Given the description of an element on the screen output the (x, y) to click on. 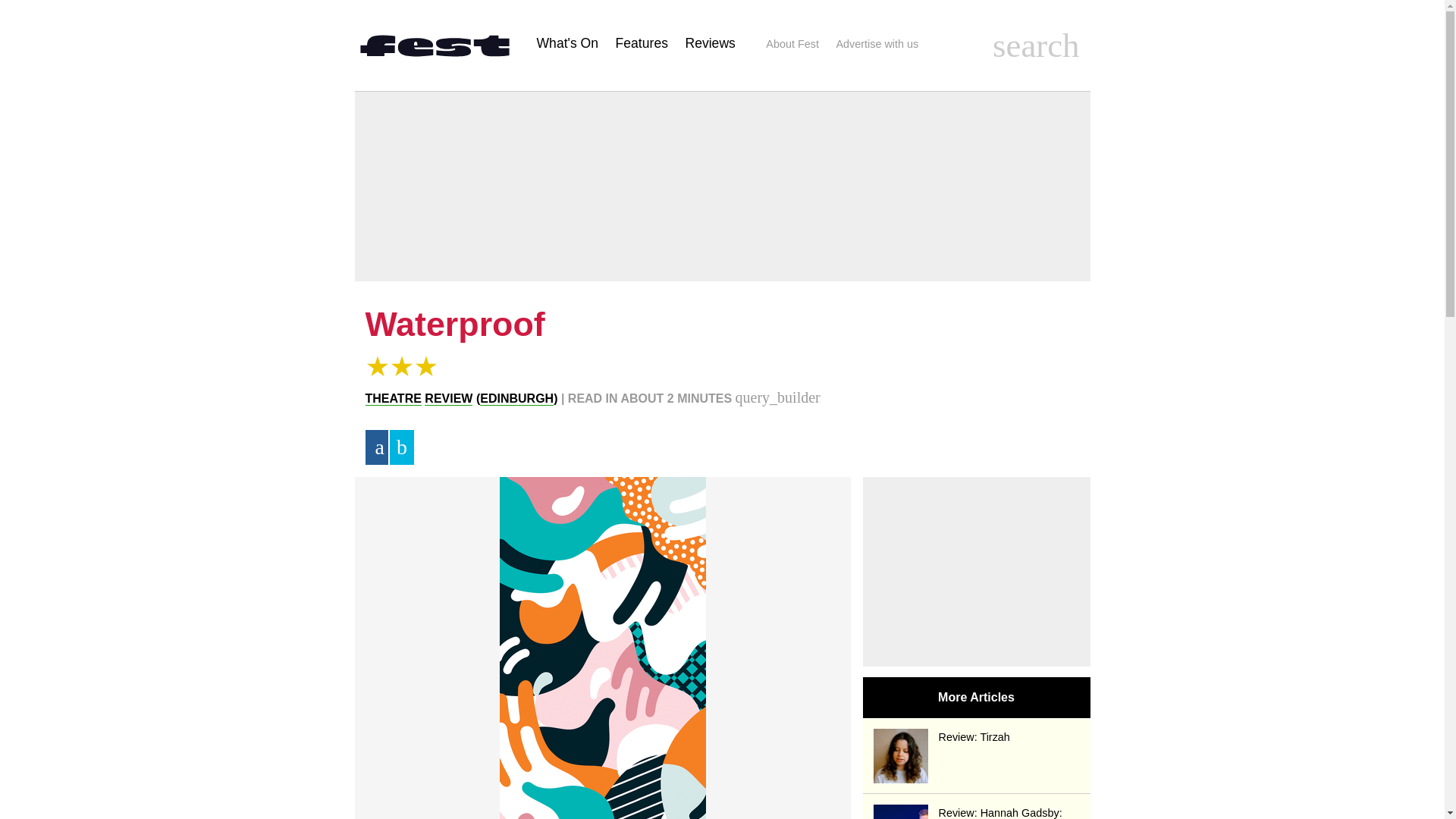
What's On (567, 43)
Review: Hannah Gadsby: Woof! (976, 811)
EDINBURGH (516, 398)
Advertise with us (876, 43)
Reviews (709, 43)
Features (641, 43)
search (1035, 45)
THEATRE (393, 398)
About Fest (791, 43)
Review: Tirzah (976, 736)
